Given the description of an element on the screen output the (x, y) to click on. 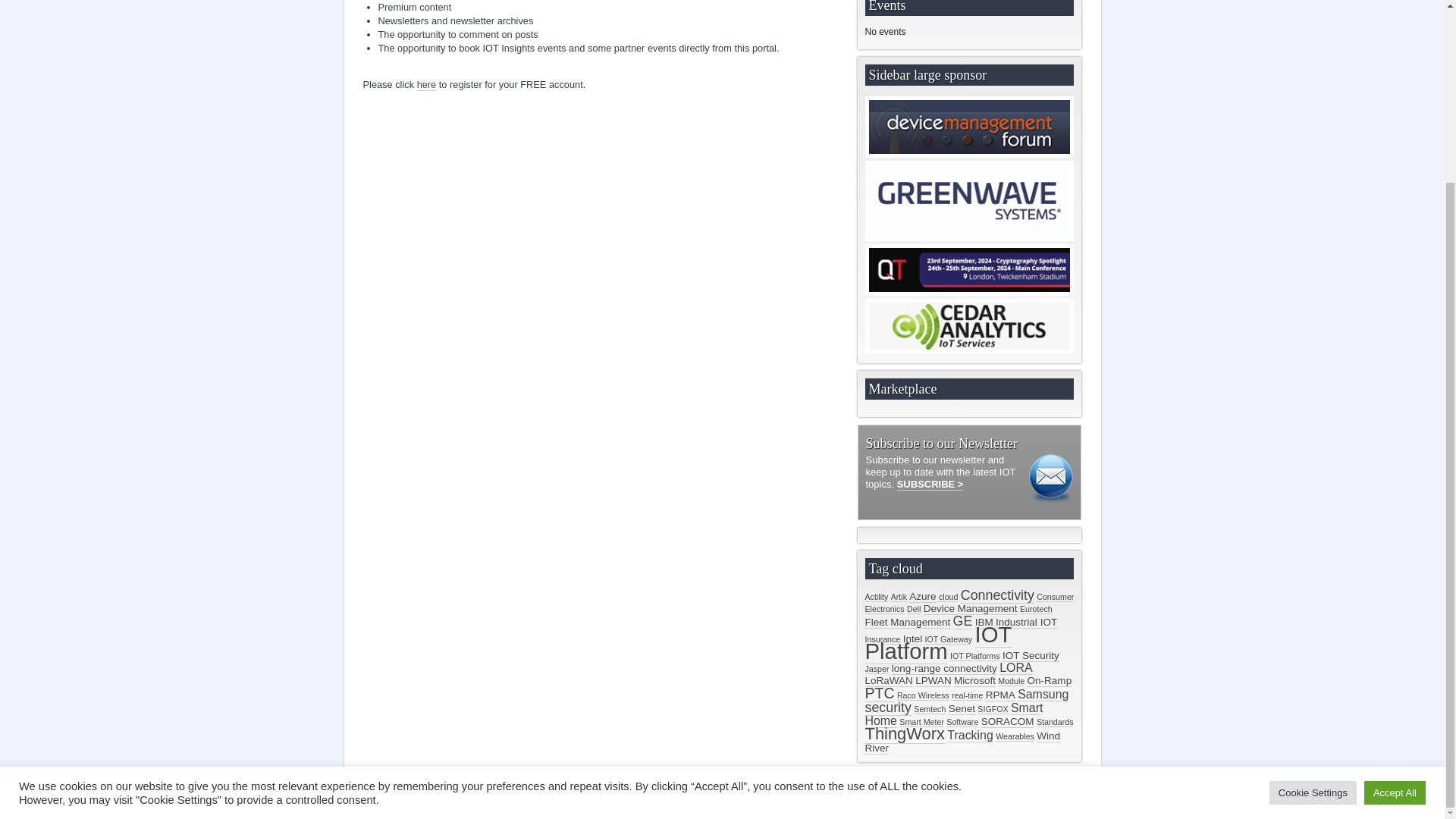
Free Newsletter (929, 484)
